Given the description of an element on the screen output the (x, y) to click on. 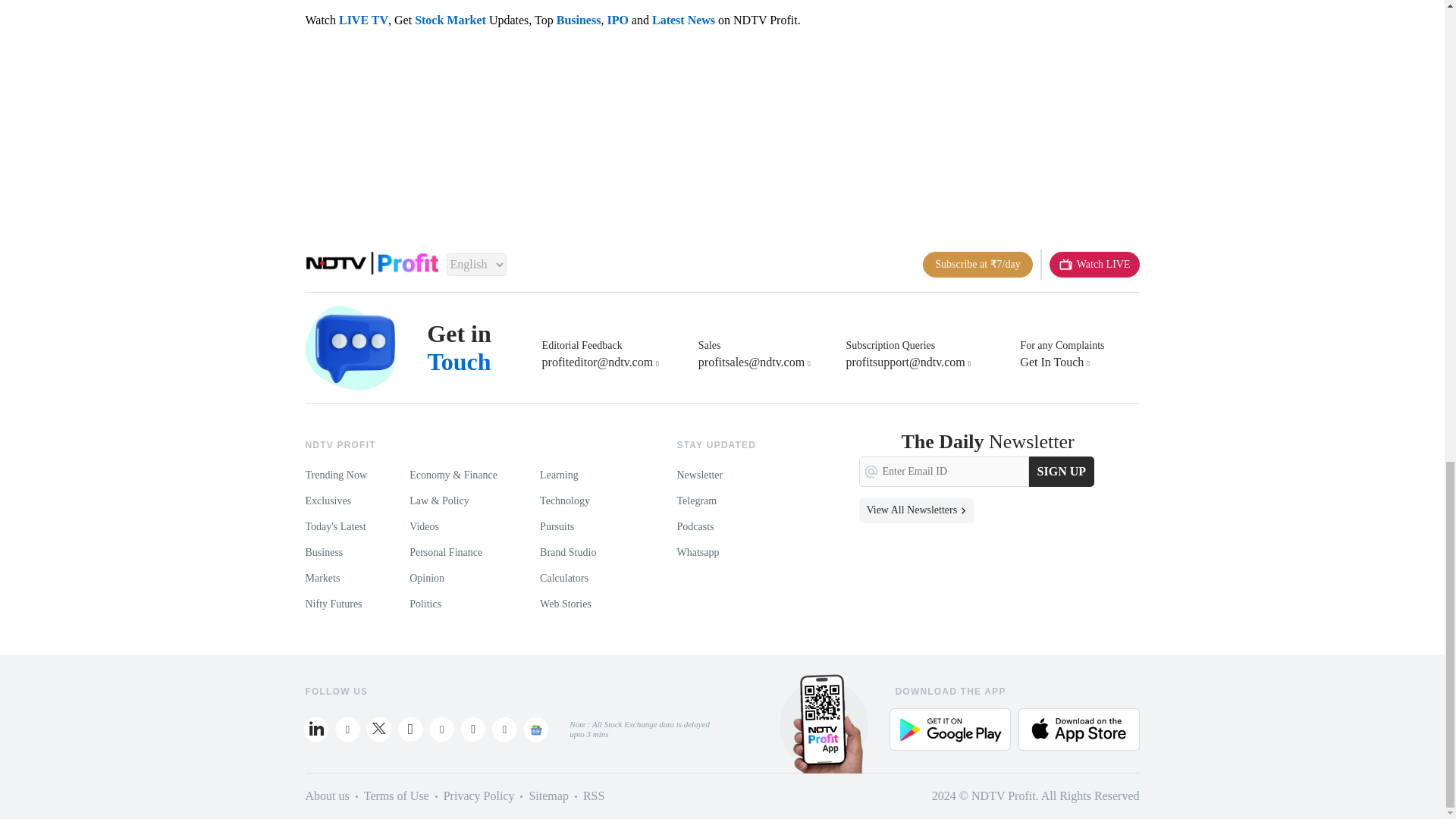
Live TV (1094, 264)
